Given the description of an element on the screen output the (x, y) to click on. 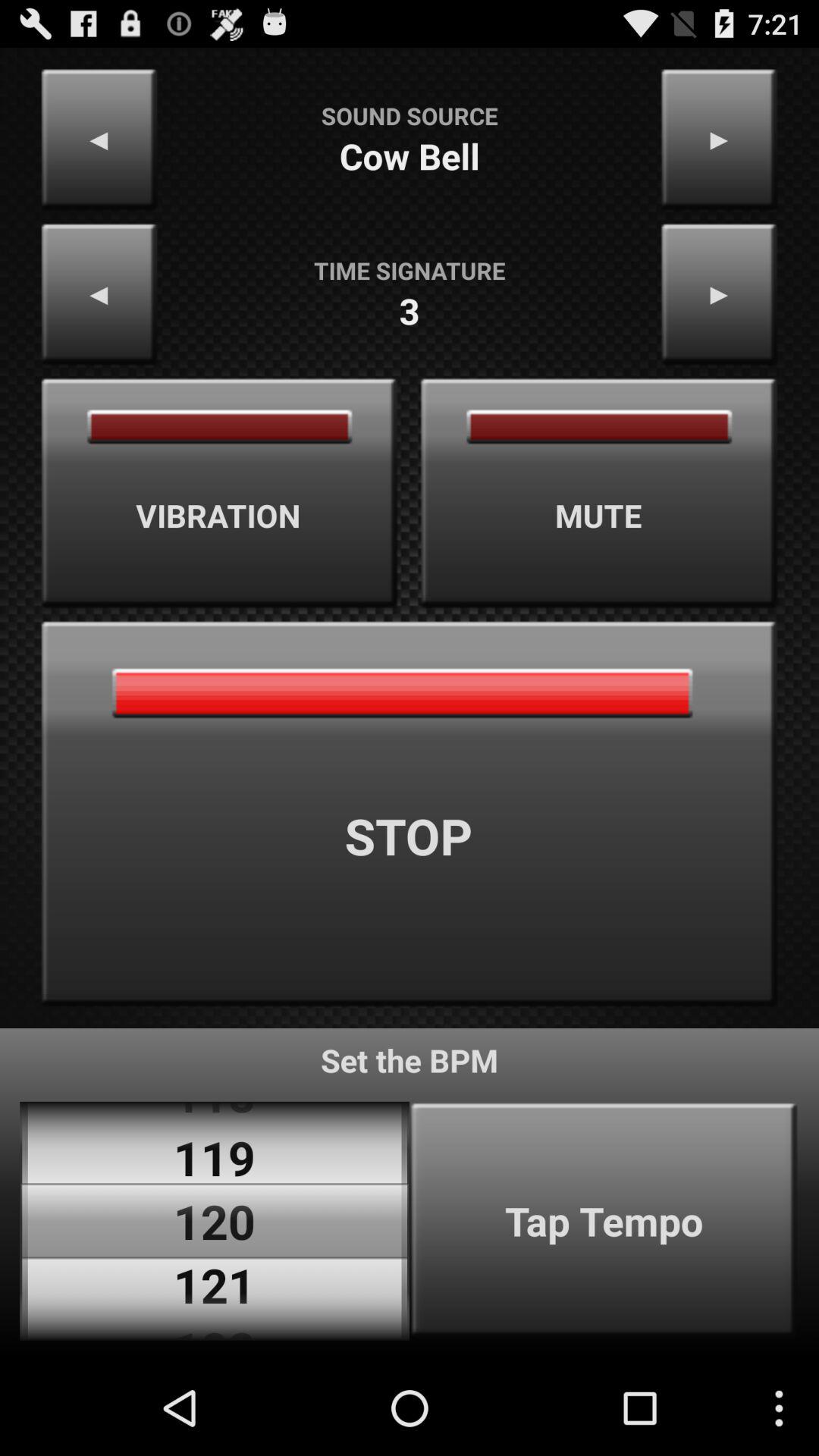
turn off stop (409, 813)
